Given the description of an element on the screen output the (x, y) to click on. 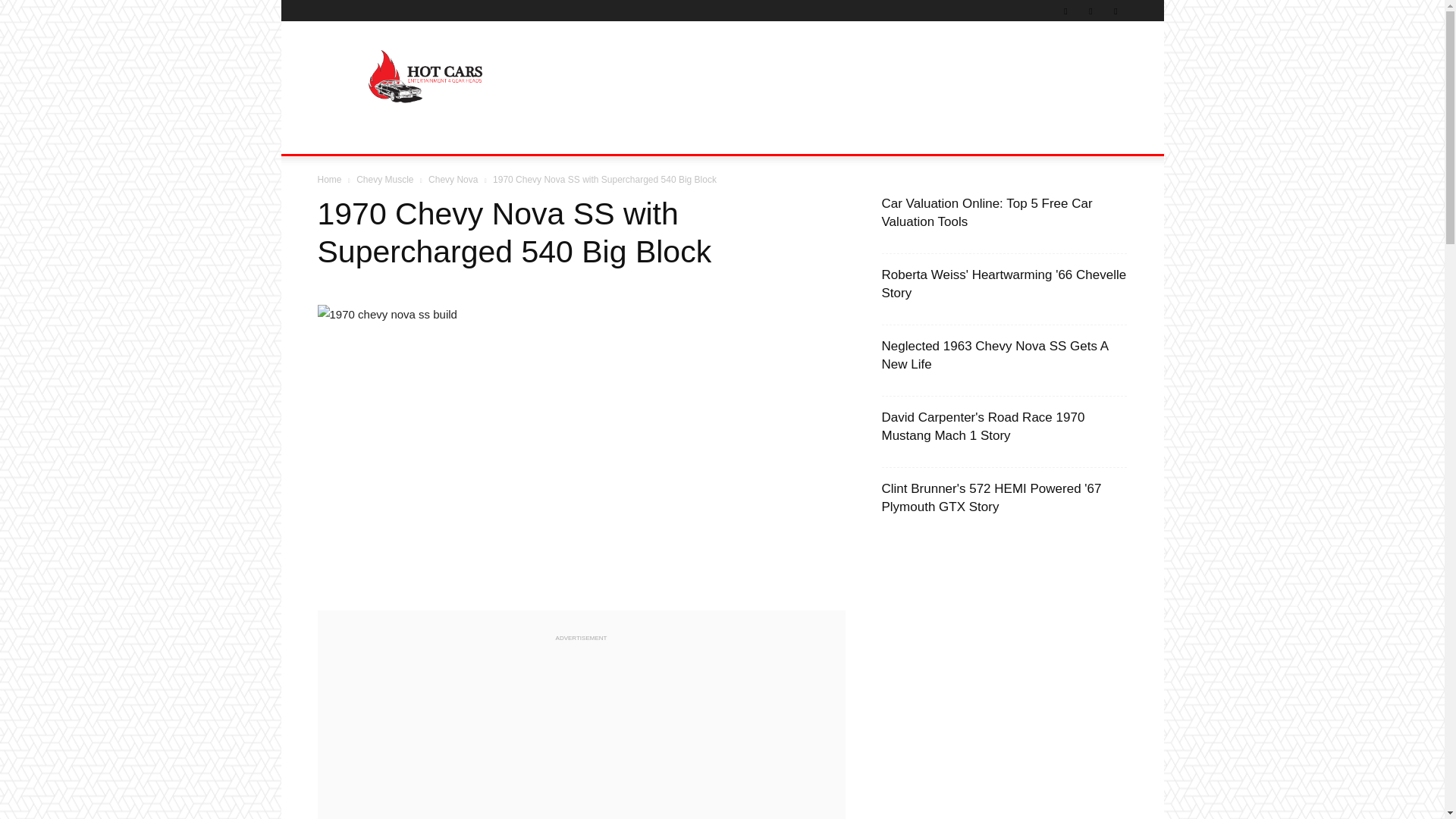
Twitter (1090, 10)
Pinterest (1065, 10)
Youtube (1114, 10)
HOME (343, 135)
CLASSIC CARS (426, 135)
